Given the description of an element on the screen output the (x, y) to click on. 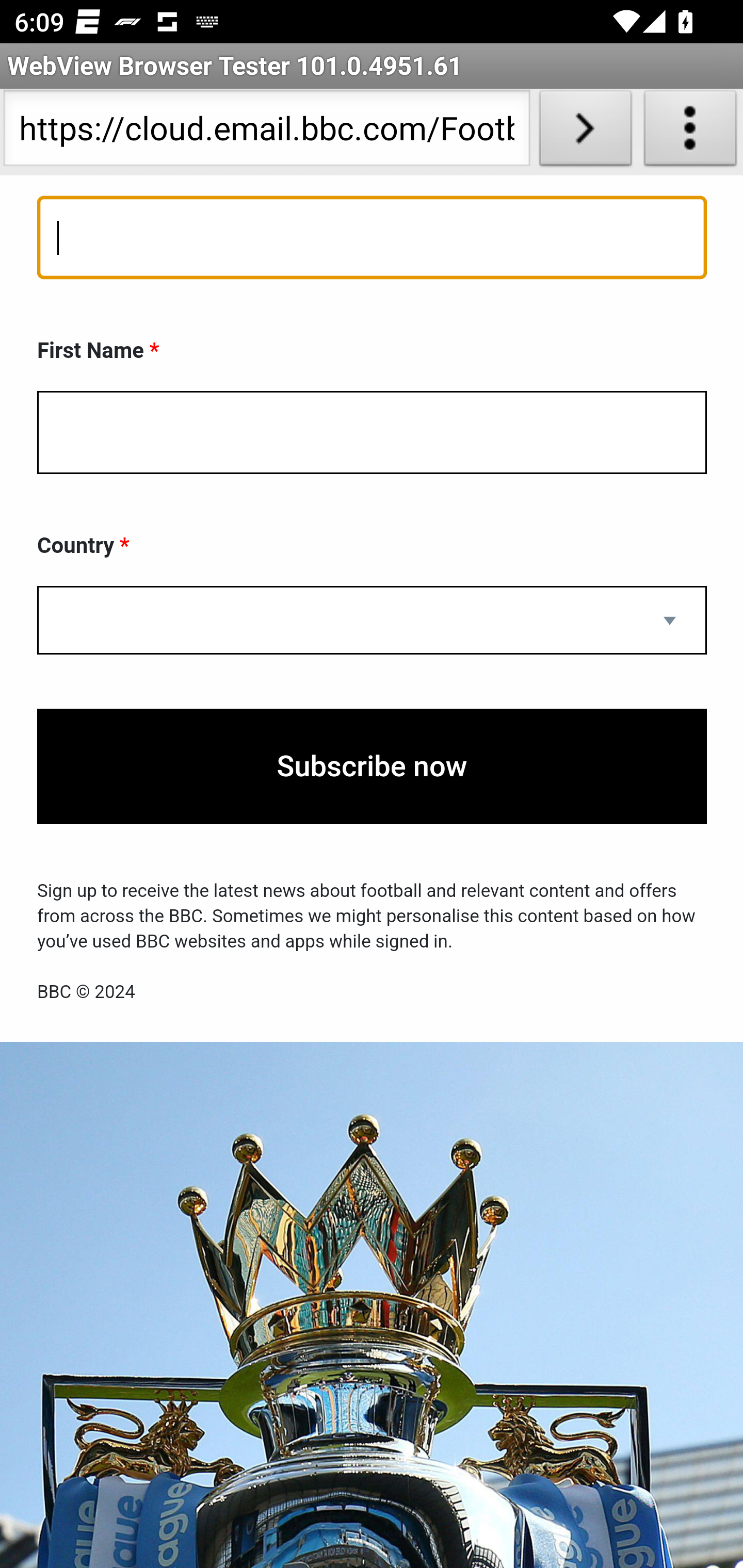
Load URL (585, 132)
About WebView (690, 132)
Subscribe now (372, 768)
